Given the description of an element on the screen output the (x, y) to click on. 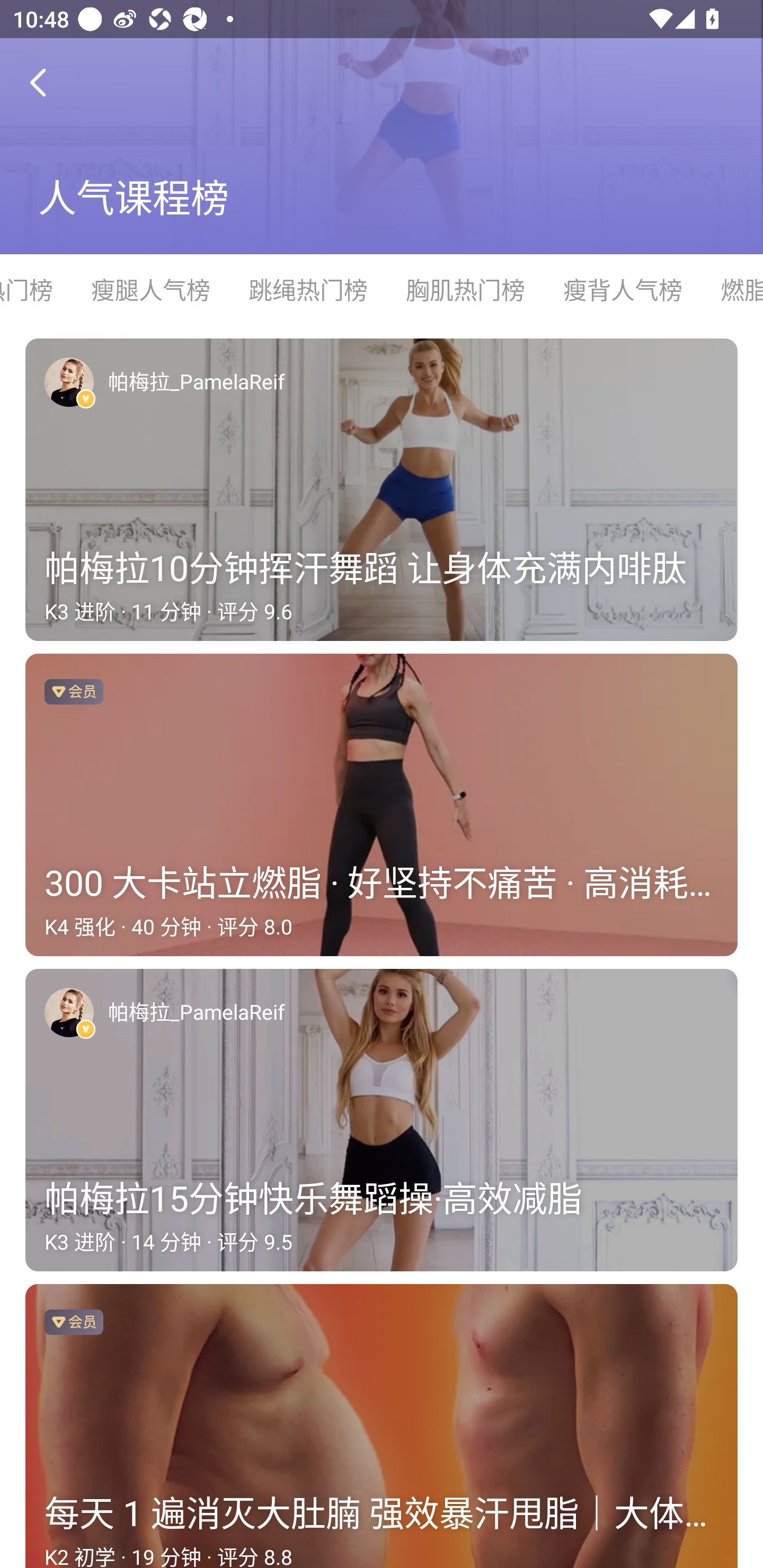
Left Button In Title Bar (50, 82)
瘦腿人气榜 (149, 290)
跳绳热门榜 (307, 290)
胸肌热门榜 (464, 290)
瘦背人气榜 (622, 290)
每天 1 遍消灭大肚腩 强效暴汗甩脂｜大体重专属 K2 初学 · 19 分钟 · 评分 8.8 (381, 1426)
